Given the description of an element on the screen output the (x, y) to click on. 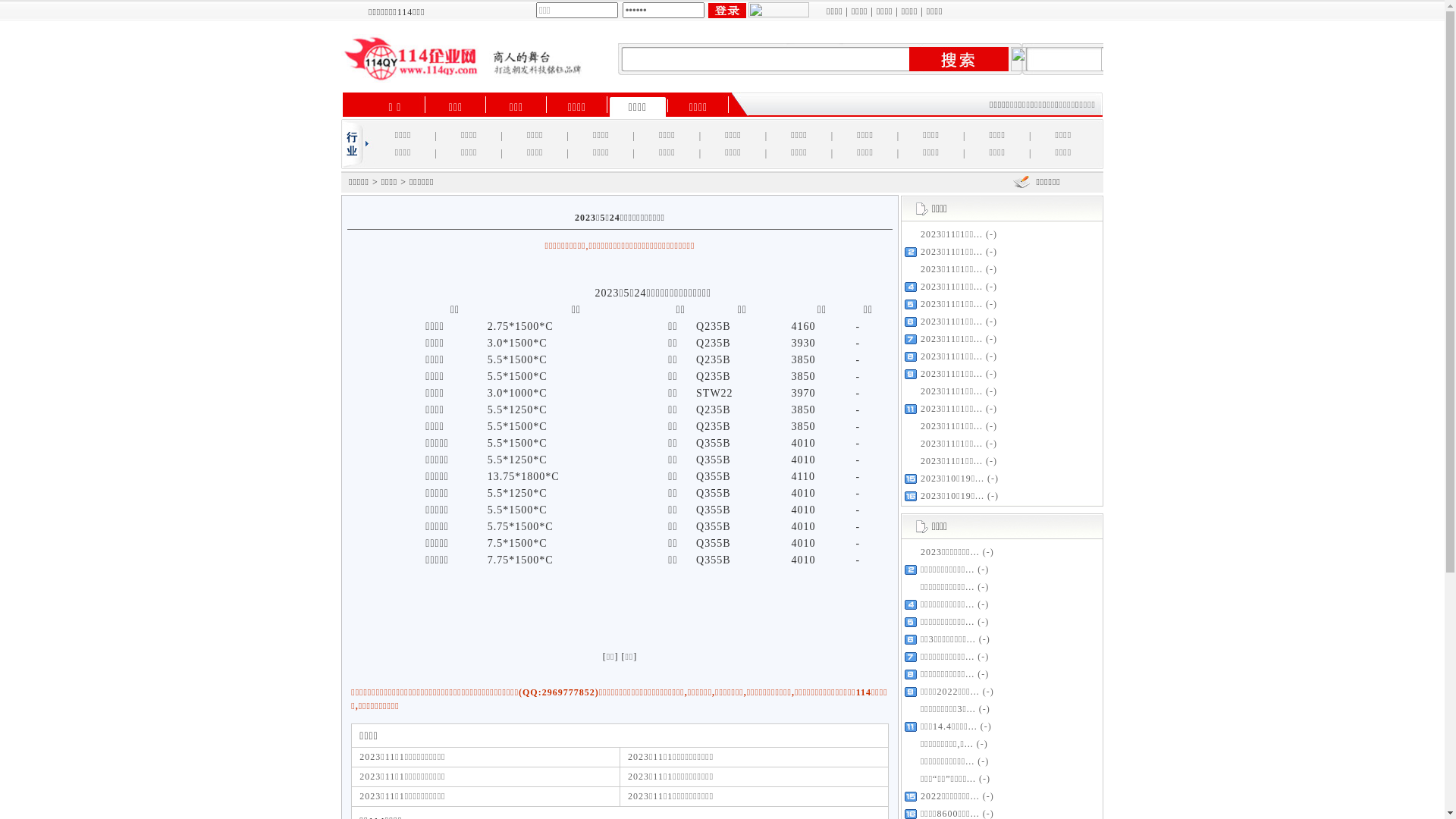
  Element type: text (958, 59)
  Element type: text (727, 10)
